Given the description of an element on the screen output the (x, y) to click on. 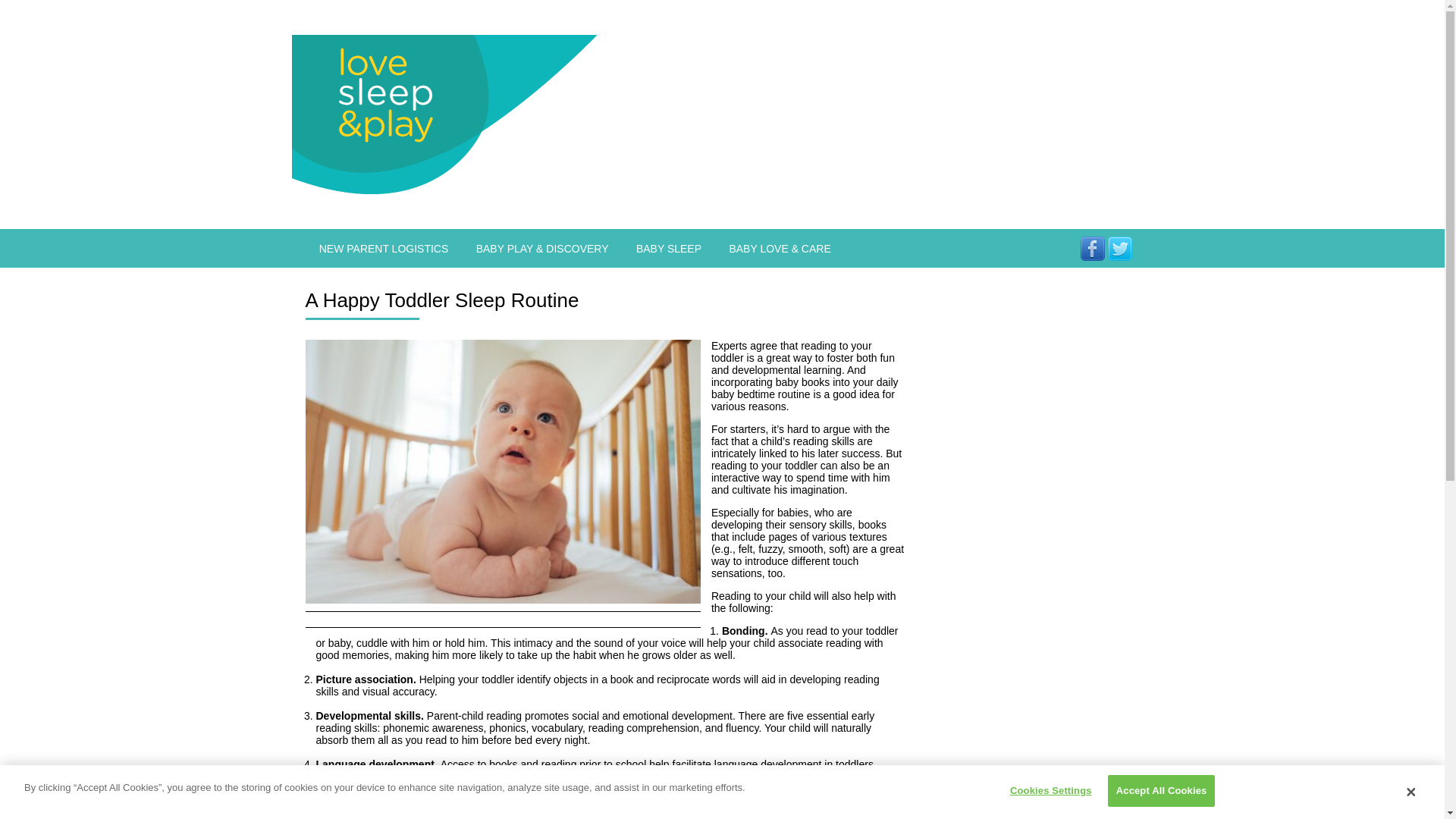
Cookies Settings (1046, 790)
Accept All Cookies (1161, 790)
Advertisement (936, 114)
Advertisement (1024, 782)
NEW PARENT LOGISTICS (382, 247)
BABY SLEEP (669, 247)
